Given the description of an element on the screen output the (x, y) to click on. 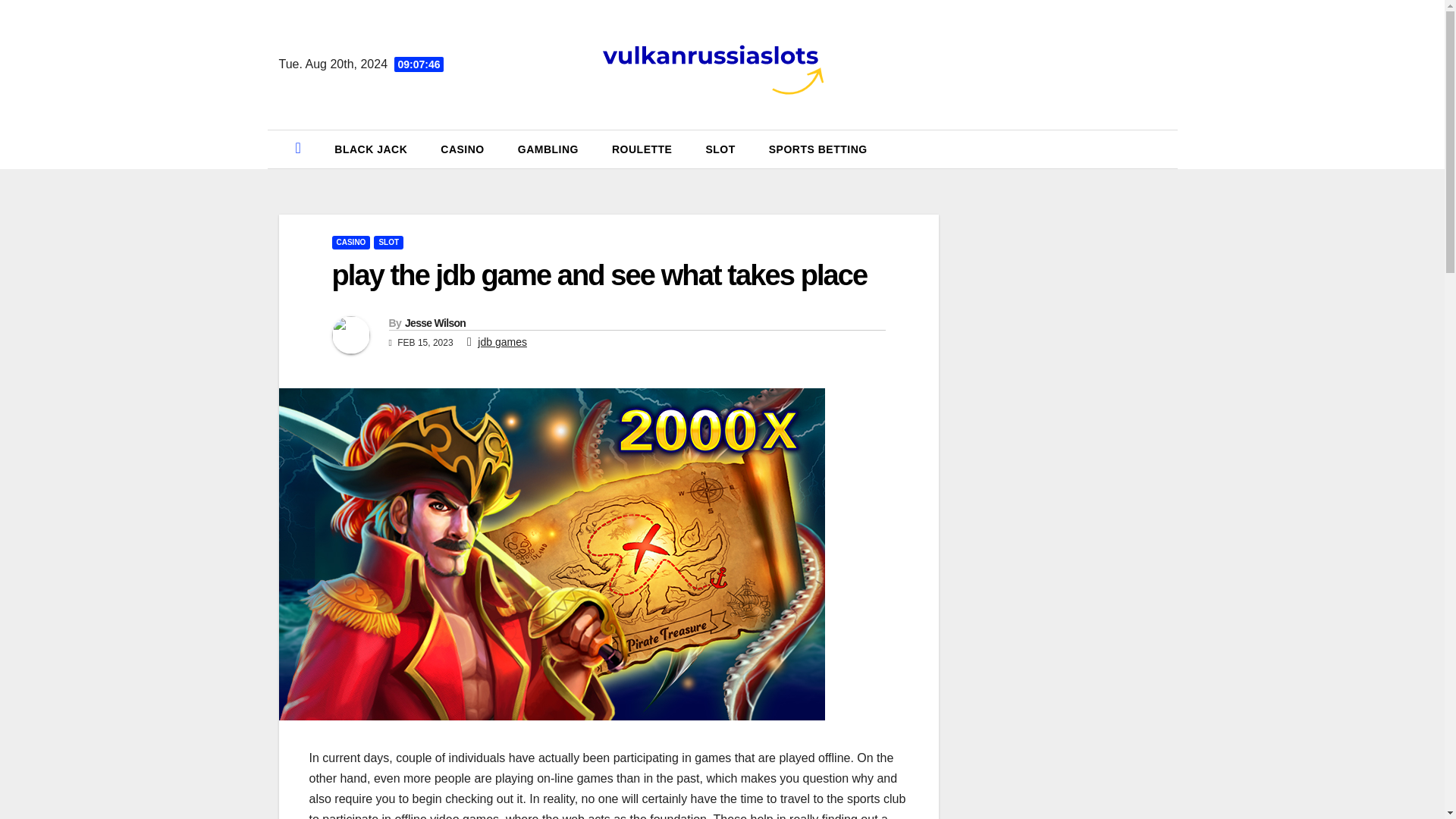
SLOT (719, 149)
BLACK JACK (370, 149)
GAMBLING (547, 149)
SLOT (388, 242)
BLACK JACK (370, 149)
CASINO (461, 149)
SPORTS BETTING (817, 149)
SPORTS BETTING (817, 149)
SLOT (719, 149)
Jesse Wilson (434, 322)
